Given the description of an element on the screen output the (x, y) to click on. 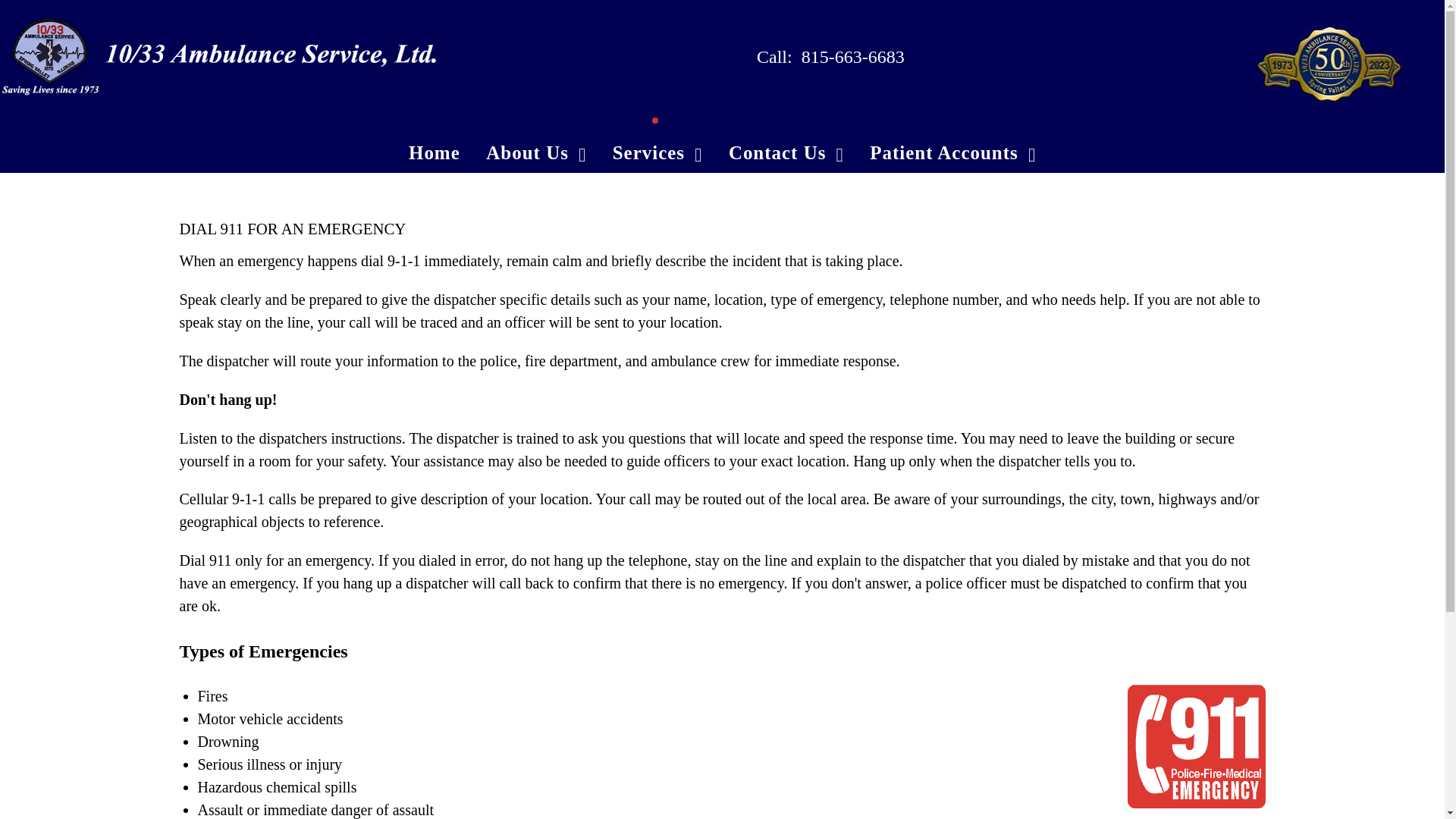
Home (433, 150)
Services (657, 150)
About Us (536, 150)
Patient Accounts (952, 150)
Contact Us (785, 150)
